Given the description of an element on the screen output the (x, y) to click on. 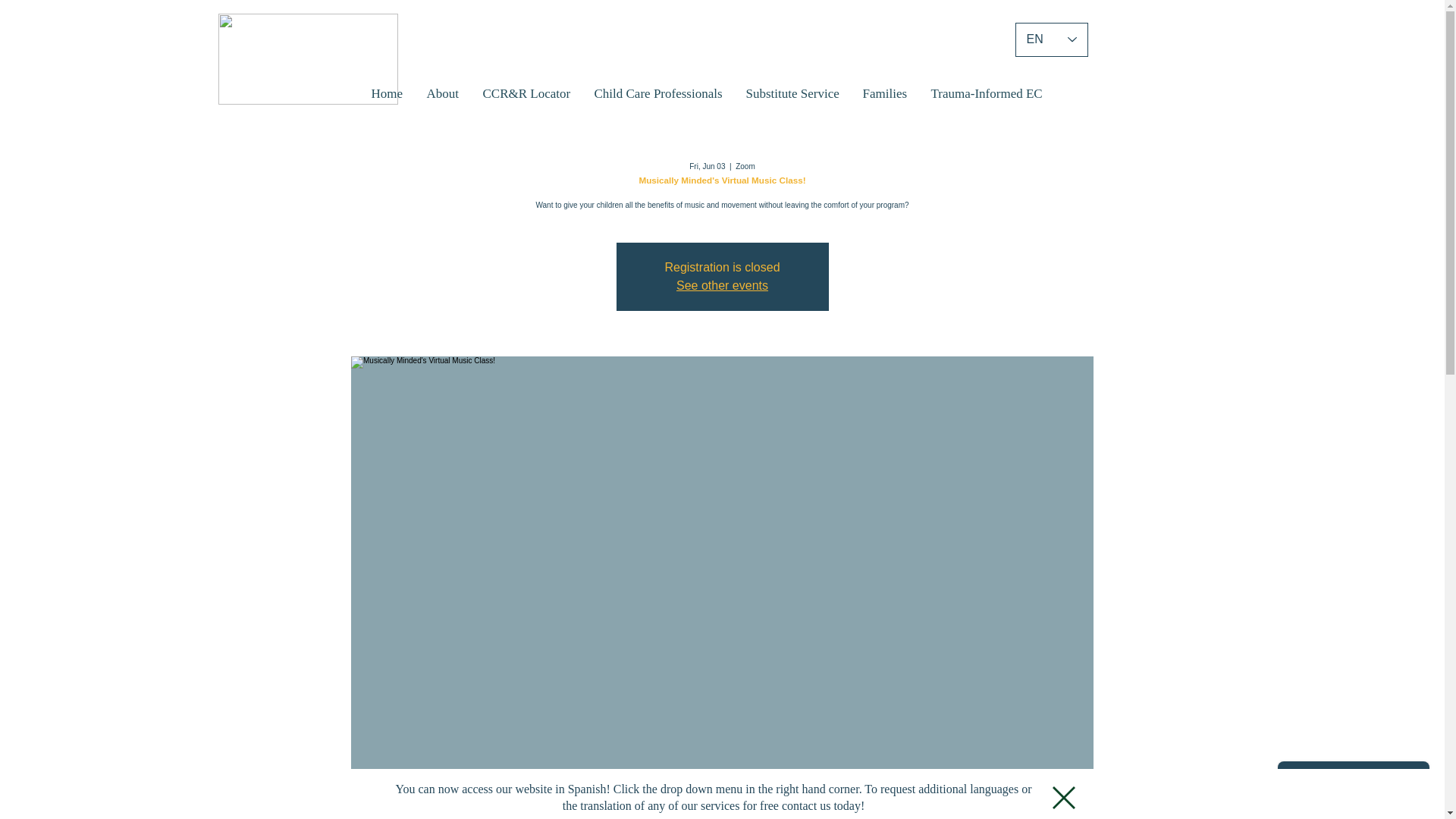
Families (884, 93)
Substitute Service (791, 93)
Trauma-Informed EC (985, 93)
Home (386, 93)
About (442, 93)
Child Care Professionals (657, 93)
See other events (722, 285)
Back to site (1063, 797)
